Given the description of an element on the screen output the (x, y) to click on. 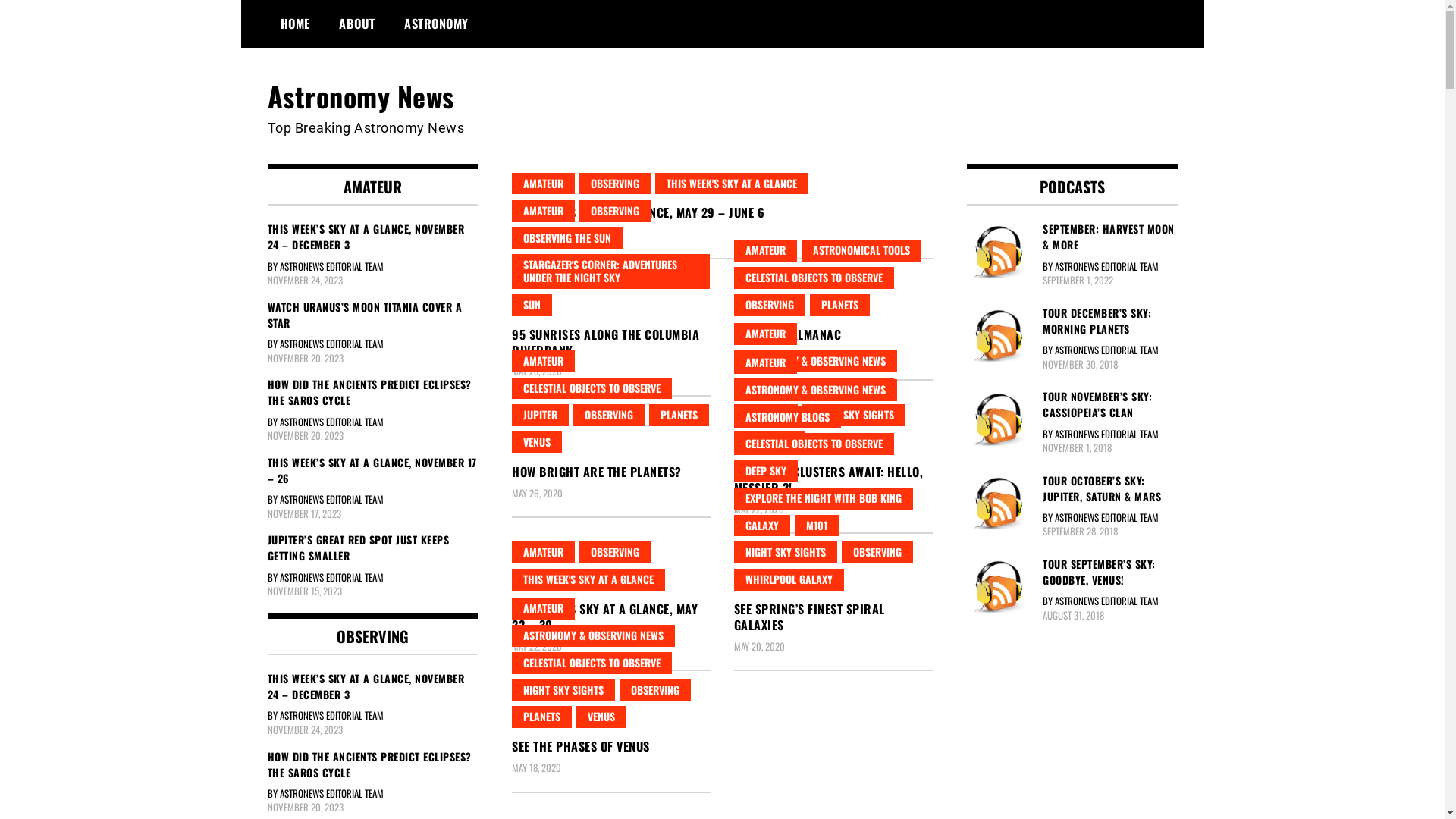
OBSERVING Element type: text (654, 690)
OBSERVING Element type: text (608, 415)
AMATEUR Element type: text (542, 183)
AMATEUR Element type: text (765, 362)
AMATEUR Element type: text (542, 608)
AMATEUR Element type: text (542, 552)
NIGHT SKY SIGHTS Element type: text (785, 552)
ASTRONOMY & OBSERVING NEWS Element type: text (815, 390)
AMATEUR Element type: text (542, 361)
OBSERVING Element type: text (769, 305)
ASTRONOMICAL TOOLS Element type: text (860, 250)
HOW DID THE ANCIENTS PREDICT ECLIPSES? THE SAROS CYCLE Element type: text (371, 763)
SEE THE PHASES OF VENUS Element type: text (580, 746)
NIGHT SKY SIGHTS Element type: text (563, 690)
CELESTIAL OBJECTS TO OBSERVE Element type: text (814, 388)
ABOUT Element type: text (356, 23)
Astronomy News Element type: text (359, 95)
VENUS Element type: text (536, 442)
OBSERVING THE SUN Element type: text (566, 238)
AMATEUR Element type: text (542, 211)
PLANETS Element type: text (679, 415)
JUPITER Element type: text (539, 415)
DEEP SKY Element type: text (765, 471)
CELESTIAL OBJECTS TO OBSERVE Element type: text (814, 444)
SUN Element type: text (531, 305)
ASTRONOMY & OBSERVING NEWS Element type: text (592, 635)
PLANETS Element type: text (541, 717)
STARGAZER'S CORNER: ADVENTURES UNDER THE NIGHT SKY Element type: text (610, 271)
PLANETS Element type: text (839, 305)
GLOBULAR CLUSTERS AWAIT: HELLO, MESSIER 3! Element type: text (828, 479)
SEPTEMBER: HARVEST MOON & MORE Element type: text (1071, 236)
AMATEUR Element type: text (765, 250)
OBSERVING Element type: text (769, 442)
ASTRONOMY BLOGS Element type: text (787, 417)
WHIRLPOOL GALAXY Element type: text (789, 579)
OBSERVING Element type: text (614, 183)
VENUS Element type: text (601, 717)
95 SUNRISES ALONG THE COLUMBIA RIVERBANK Element type: text (605, 342)
A JUPITER ALMANAC Element type: text (787, 334)
DEEP SKY Element type: text (765, 415)
CELESTIAL OBJECTS TO OBSERVE Element type: text (591, 663)
ASTRONOMY & OBSERVING NEWS Element type: text (815, 361)
HOW BRIGHT ARE THE PLANETS? Element type: text (596, 471)
OBSERVING Element type: text (614, 552)
OBSERVING Element type: text (877, 552)
GALAXY Element type: text (762, 525)
HOME Element type: text (294, 23)
M101 Element type: text (816, 525)
HOW DID THE ANCIENTS PREDICT ECLIPSES? THE SAROS CYCLE Element type: text (371, 391)
CELESTIAL OBJECTS TO OBSERVE Element type: text (591, 388)
ASTRONOMY Element type: text (436, 23)
THIS WEEK'S SKY AT A GLANCE Element type: text (731, 183)
CELESTIAL OBJECTS TO OBSERVE Element type: text (814, 277)
OBSERVING Element type: text (614, 211)
EXPLORE THE NIGHT WITH BOB KING Element type: text (823, 498)
AMATEUR Element type: text (765, 334)
THIS WEEK'S SKY AT A GLANCE Element type: text (588, 579)
NIGHT SKY SIGHTS Element type: text (853, 415)
